Given the description of an element on the screen output the (x, y) to click on. 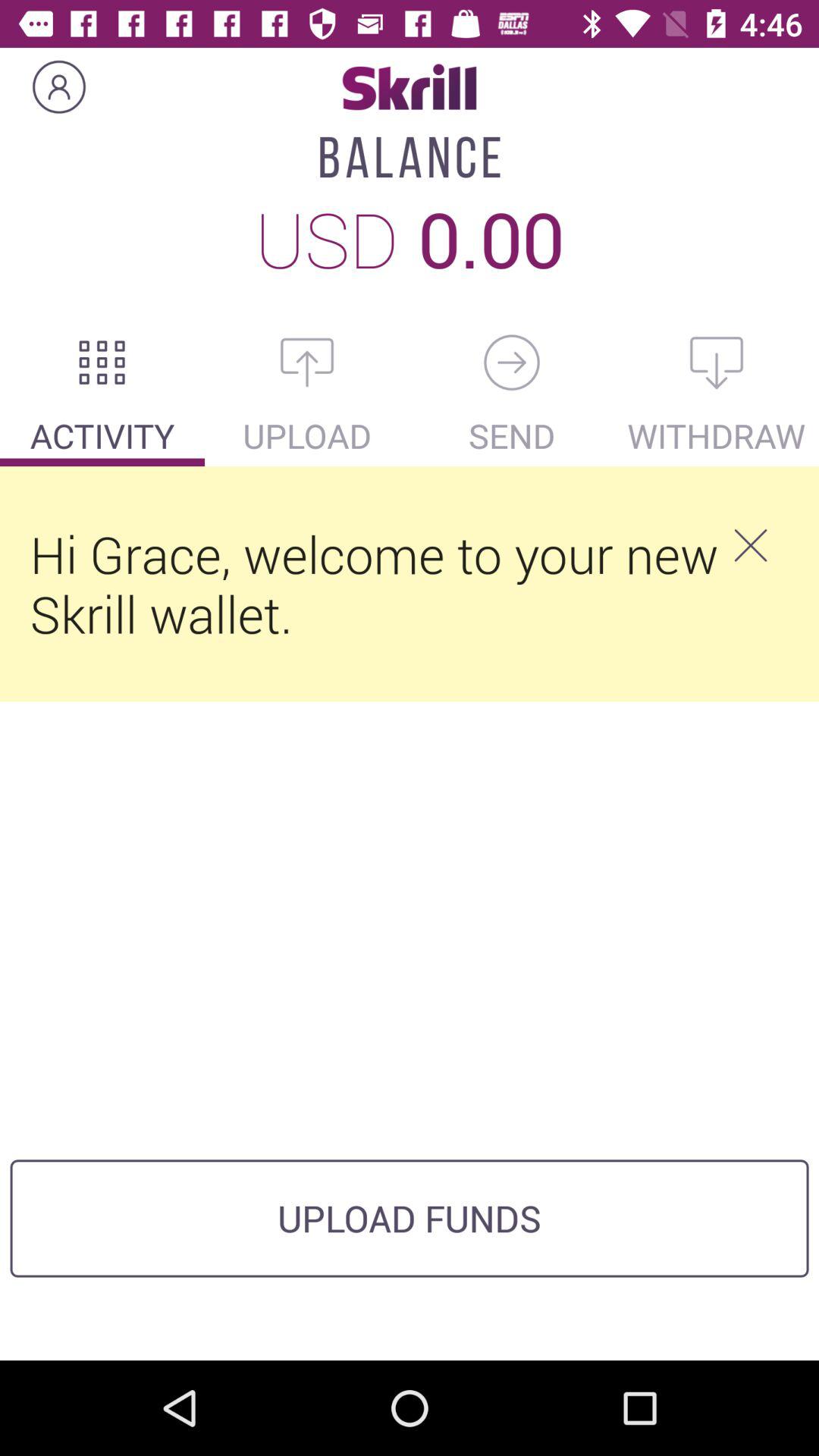
select the icon on the right (750, 545)
